Given the description of an element on the screen output the (x, y) to click on. 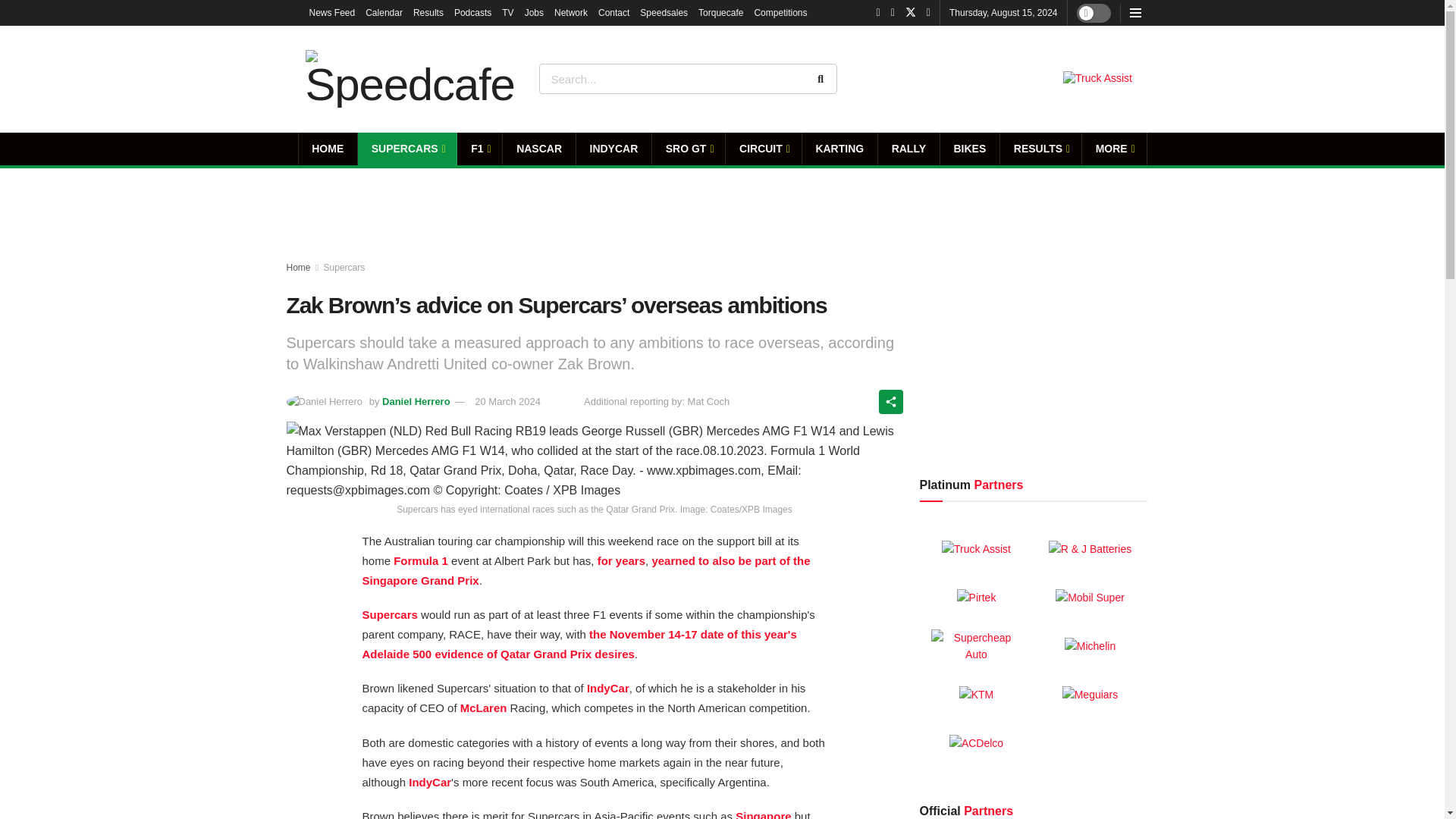
Contact (613, 12)
Network (571, 12)
Torquecafe (720, 12)
Results (428, 12)
Speedsales (663, 12)
Competitions (780, 12)
F1 (479, 148)
Calendar (384, 12)
News Feed (331, 12)
SUPERCARS (407, 148)
